Given the description of an element on the screen output the (x, y) to click on. 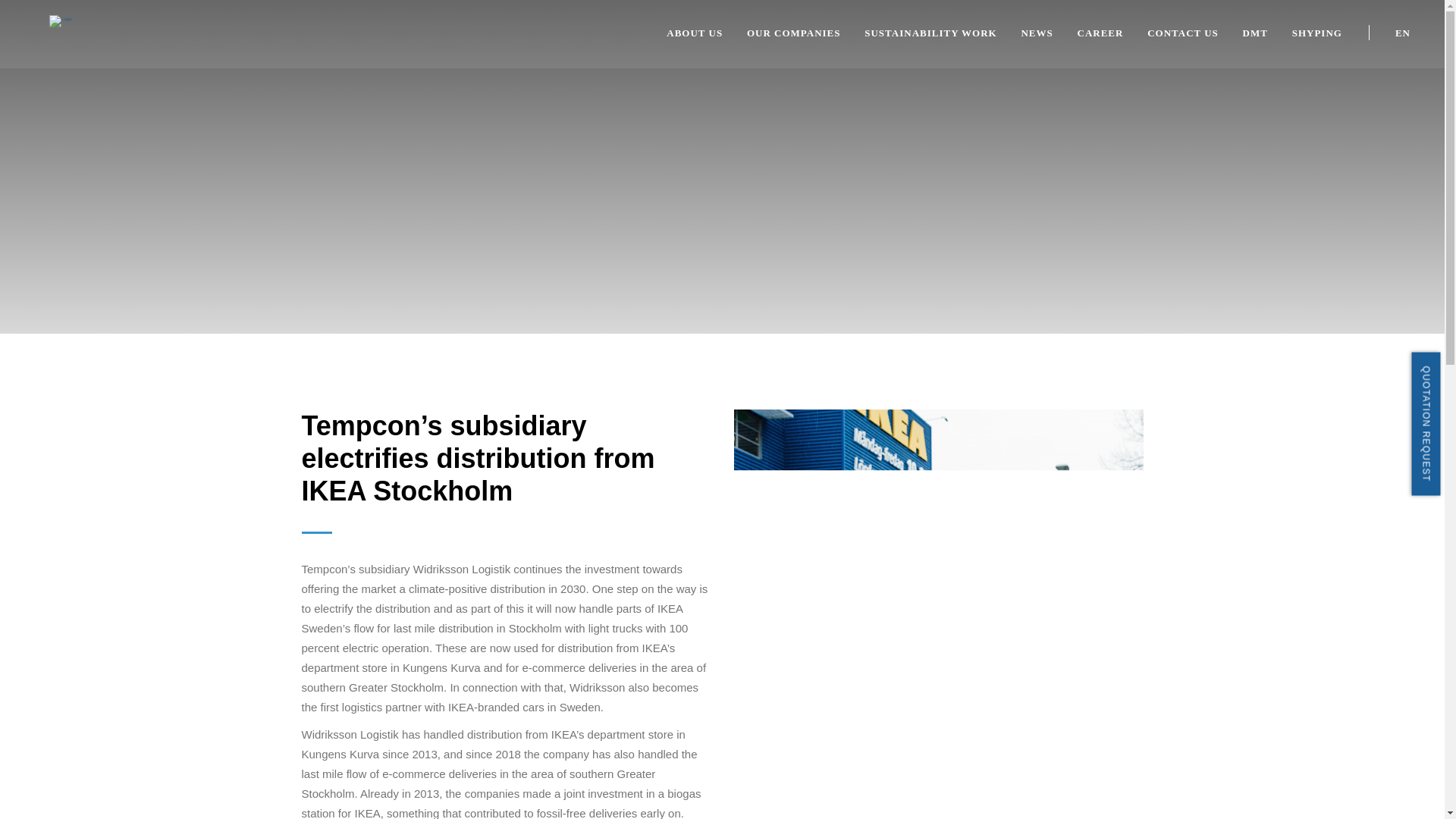
CAREER (1099, 32)
EN (1402, 31)
ABOUT US (694, 32)
CONTACT US (1182, 32)
SUSTAINABILITY WORK (929, 32)
NEWS (1036, 32)
DMT (1255, 32)
OUR COMPANIES (793, 32)
SHYPING (1317, 32)
